Given the description of an element on the screen output the (x, y) to click on. 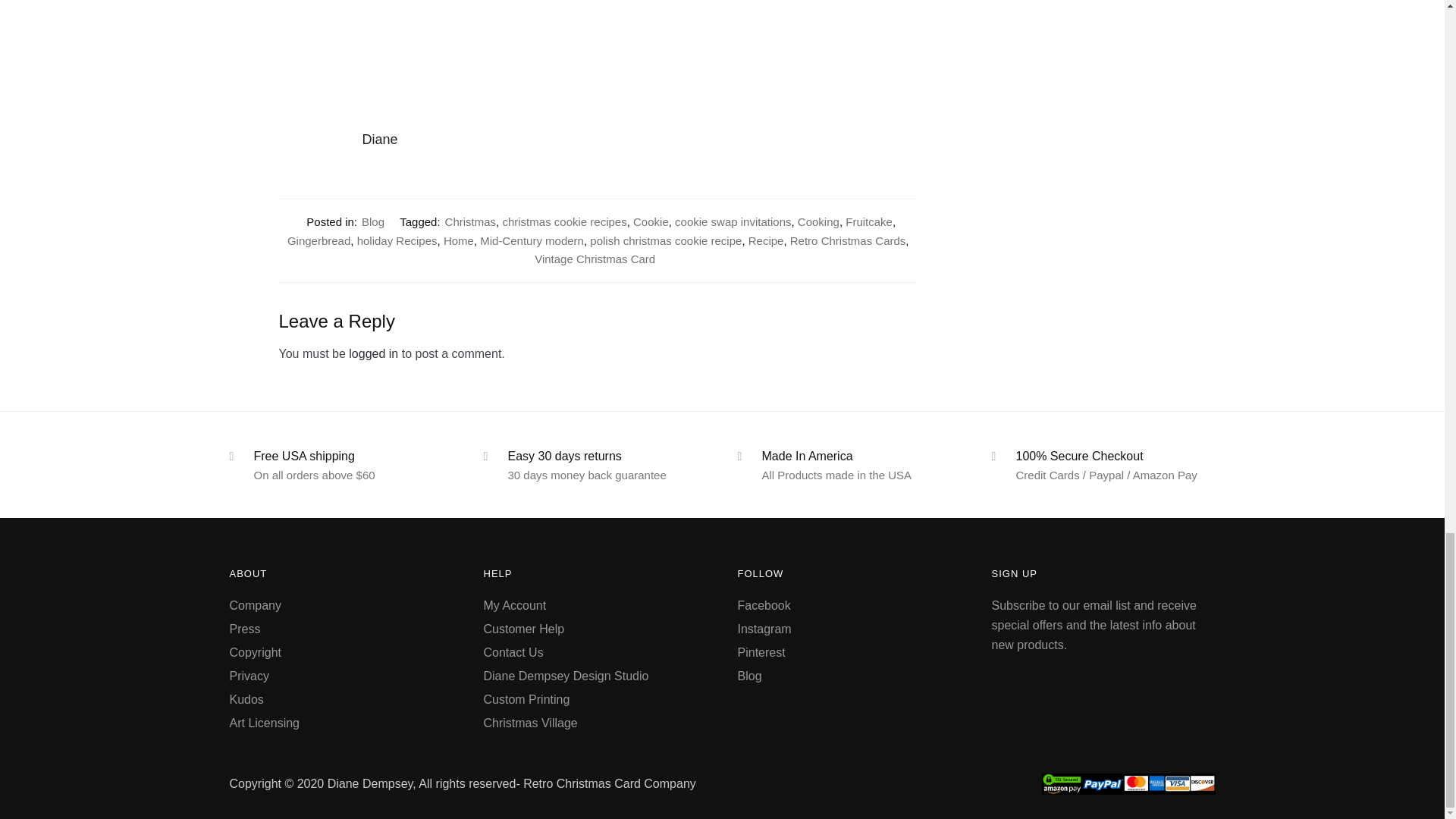
Diane (639, 139)
Christmas (470, 221)
Retro Christmas Cookies Card (597, 43)
Cookie (650, 221)
Blog (372, 221)
christmas cookie recipes (564, 221)
